Given the description of an element on the screen output the (x, y) to click on. 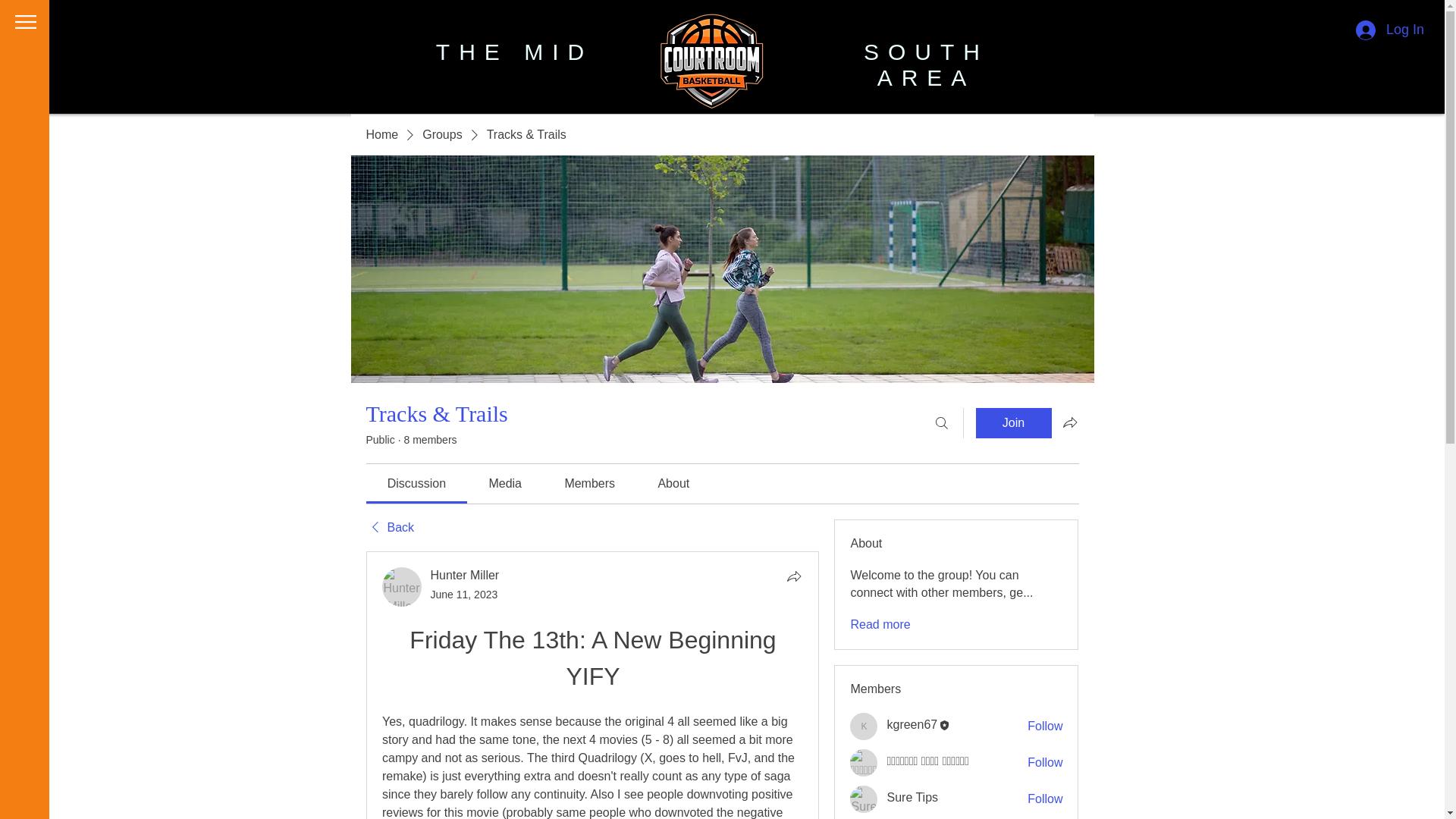
Sure Tips (863, 799)
Join (1013, 422)
Follow (1044, 799)
Follow (1044, 726)
Groups (441, 134)
Back (389, 527)
Hunter Miller (464, 574)
Sure Tips (911, 797)
Hunter Miller (401, 586)
Read more (880, 624)
Follow (1044, 762)
THE MID (513, 51)
DESTINED 2 WIN-2.png (709, 66)
June 11, 2023 (463, 594)
Log In (1389, 30)
